Given the description of an element on the screen output the (x, y) to click on. 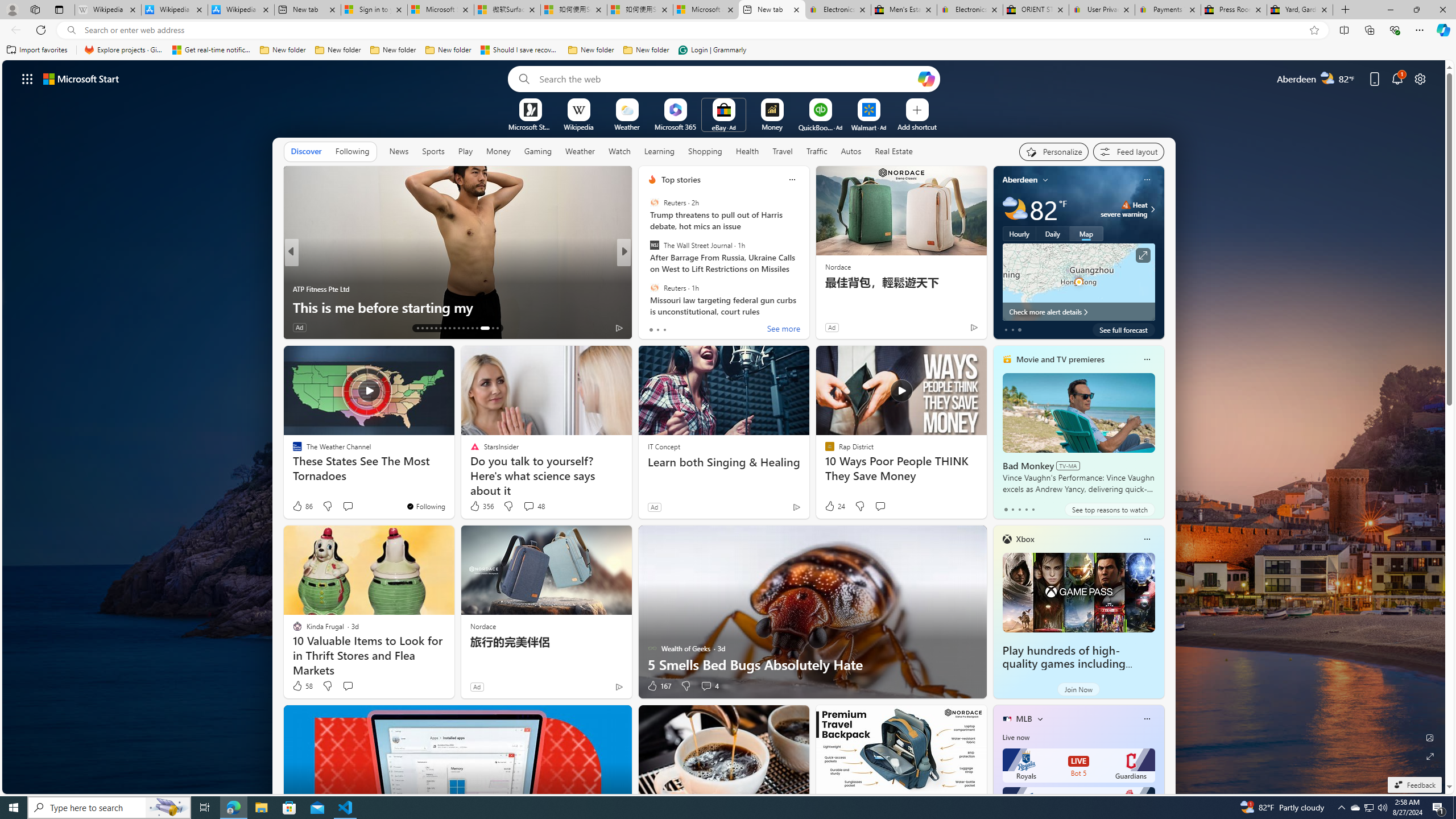
MLB (1024, 718)
AutomationID: tab-28 (489, 328)
AutomationID: backgroundImagePicture (723, 426)
MUO (296, 288)
IT Concept (663, 446)
Heat - Severe Heat severe warning (1123, 208)
AutomationID: tab-24 (467, 328)
AutomationID: tab-27 (481, 328)
Reuters (654, 287)
